Given the description of an element on the screen output the (x, y) to click on. 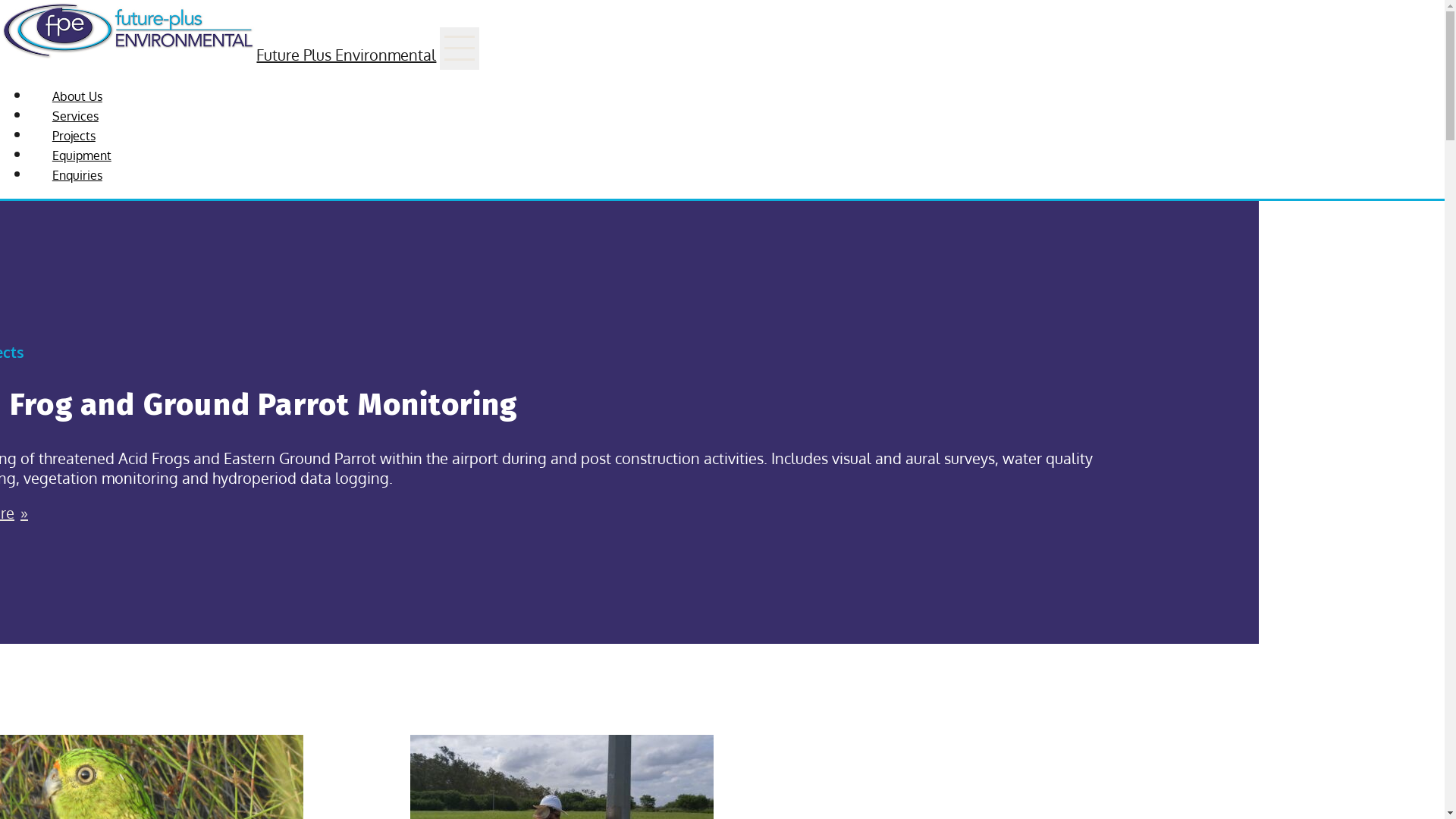
Services Element type: text (75, 115)
About Us Element type: text (77, 95)
Enquiries Element type: text (77, 174)
Future Plus Environmental Element type: text (218, 54)
Projects Element type: text (73, 135)
Equipment Element type: text (81, 155)
